Given the description of an element on the screen output the (x, y) to click on. 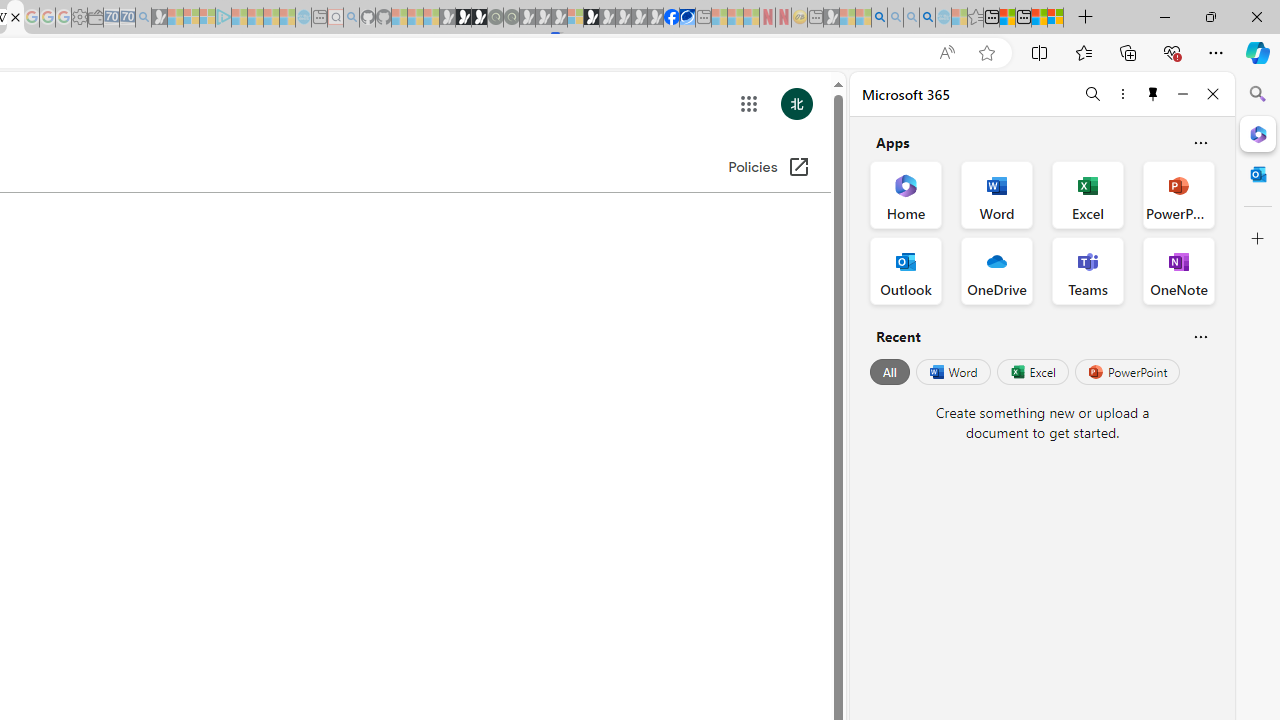
Future Focus Report 2024 - Sleeping (511, 17)
OneDrive Office App (996, 270)
Home Office App (906, 194)
PowerPoint (1127, 372)
